Given the description of an element on the screen output the (x, y) to click on. 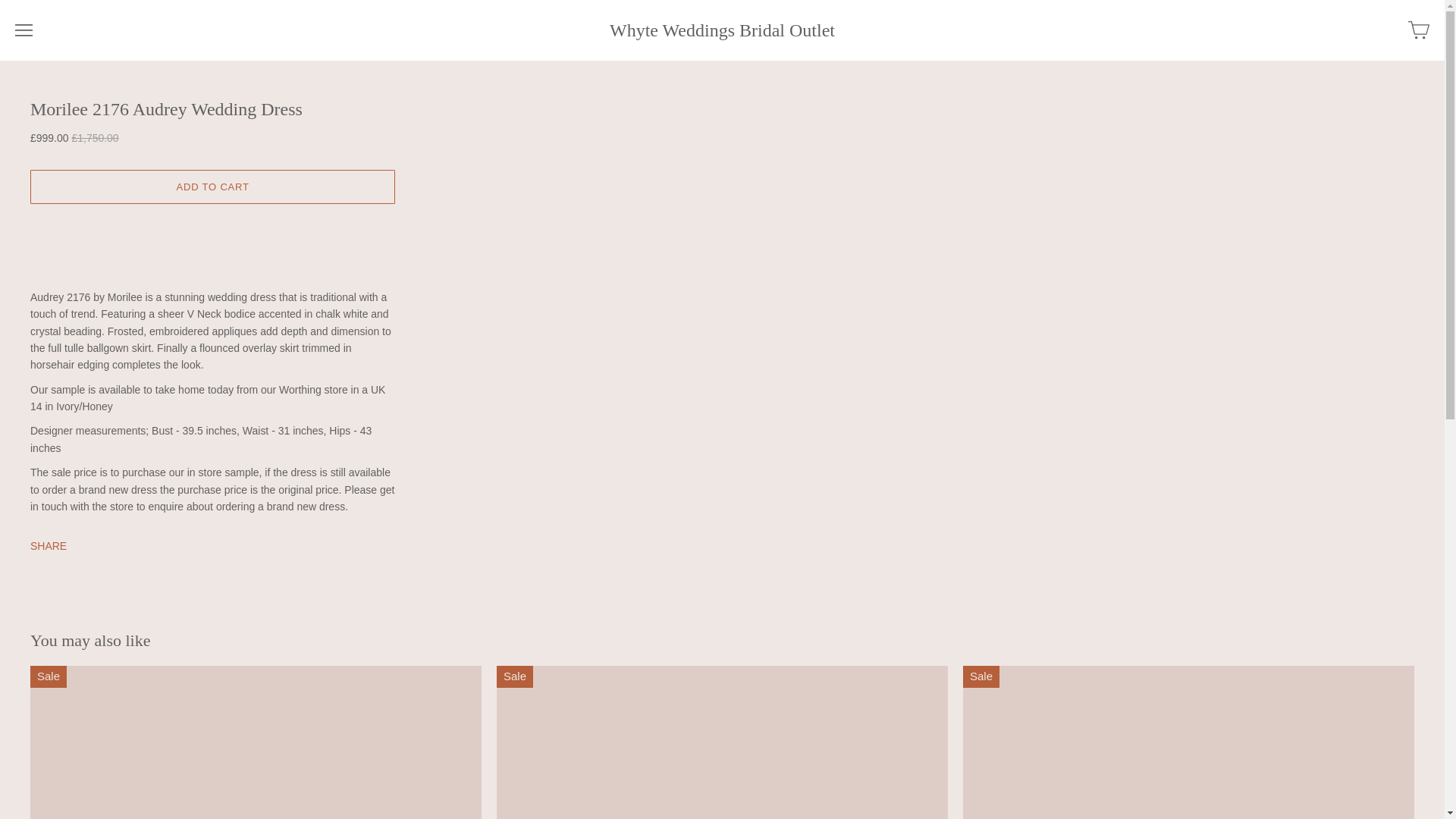
Whyte Weddings Bridal Outlet (722, 30)
Cart (1418, 29)
Add to cart (212, 186)
